Given the description of an element on the screen output the (x, y) to click on. 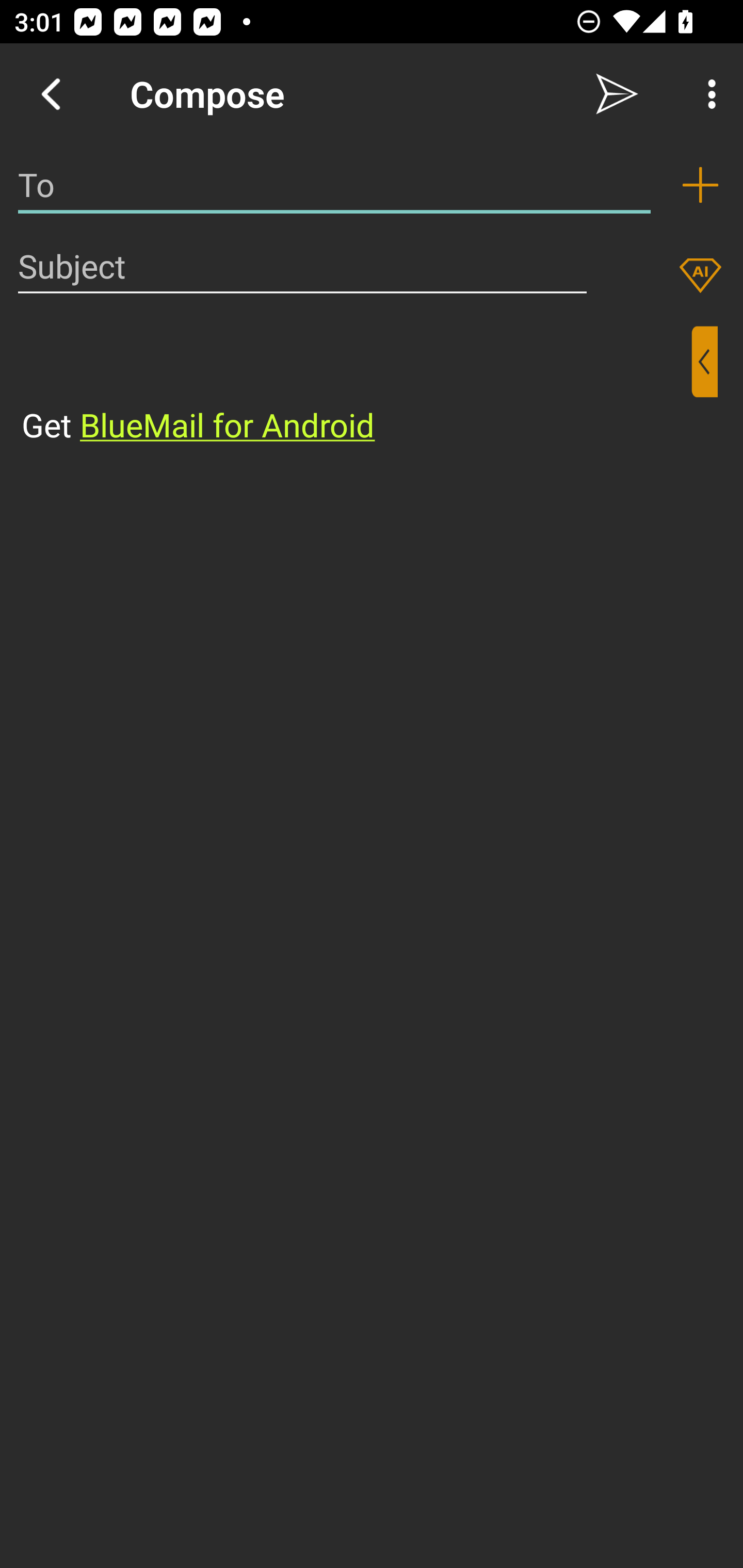
Navigate up (50, 93)
Send (616, 93)
More Options (706, 93)
To (334, 184)
Add recipient (To) (699, 184)
Subject (302, 266)


⁣Get BlueMail for Android ​ (355, 386)
